Given the description of an element on the screen output the (x, y) to click on. 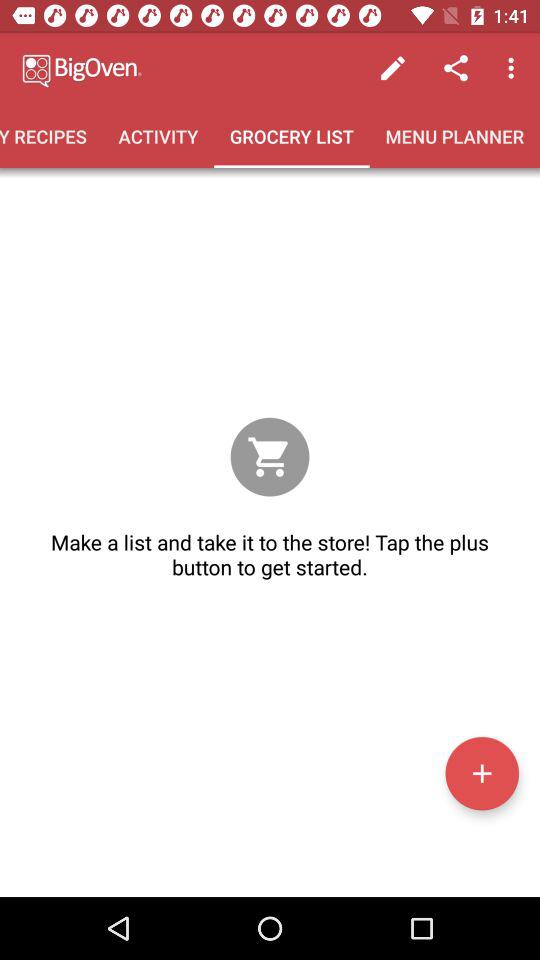
tap the icon below make a list item (482, 773)
